Given the description of an element on the screen output the (x, y) to click on. 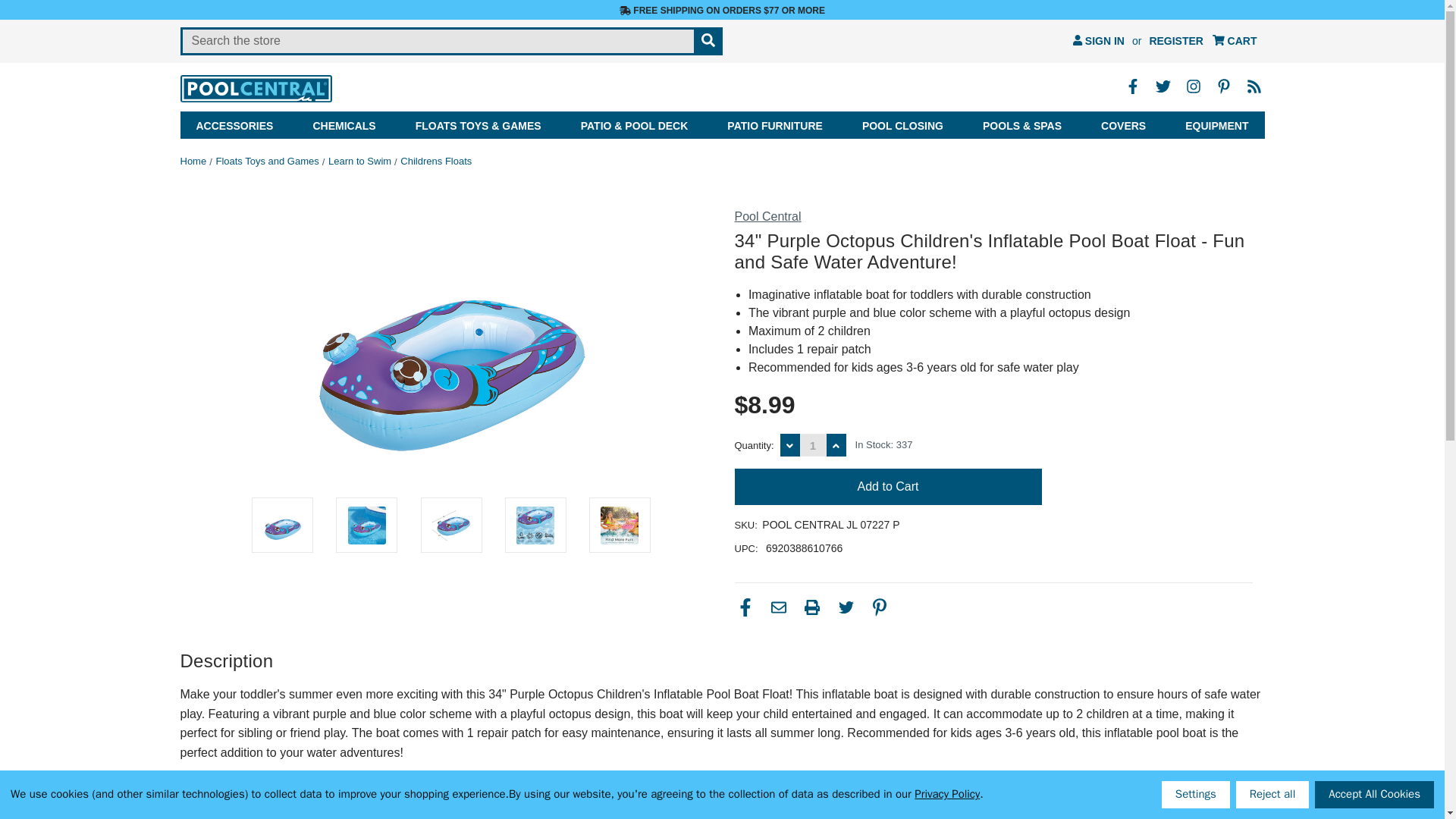
CHEMICALS (344, 124)
REGISTER (1176, 40)
CART (1235, 40)
1 (813, 445)
Add to Cart (887, 486)
SIGN IN (1098, 40)
ACCESSORIES (234, 124)
